Given the description of an element on the screen output the (x, y) to click on. 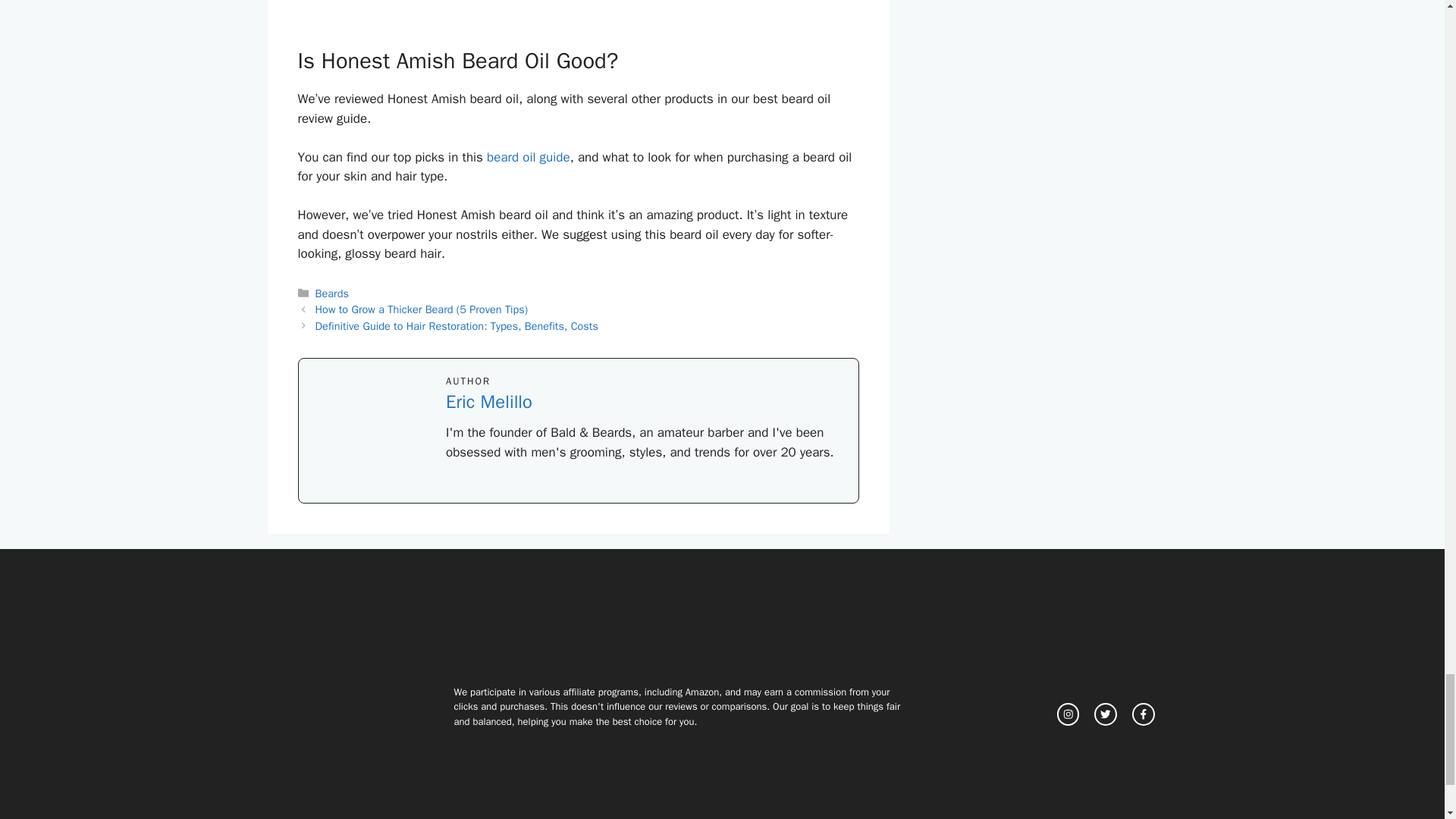
Definitive Guide to Hair Restoration: Types, Benefits, Costs (456, 325)
Beards (332, 293)
Eric Melillo (488, 401)
beard oil guide (528, 157)
